Given the description of an element on the screen output the (x, y) to click on. 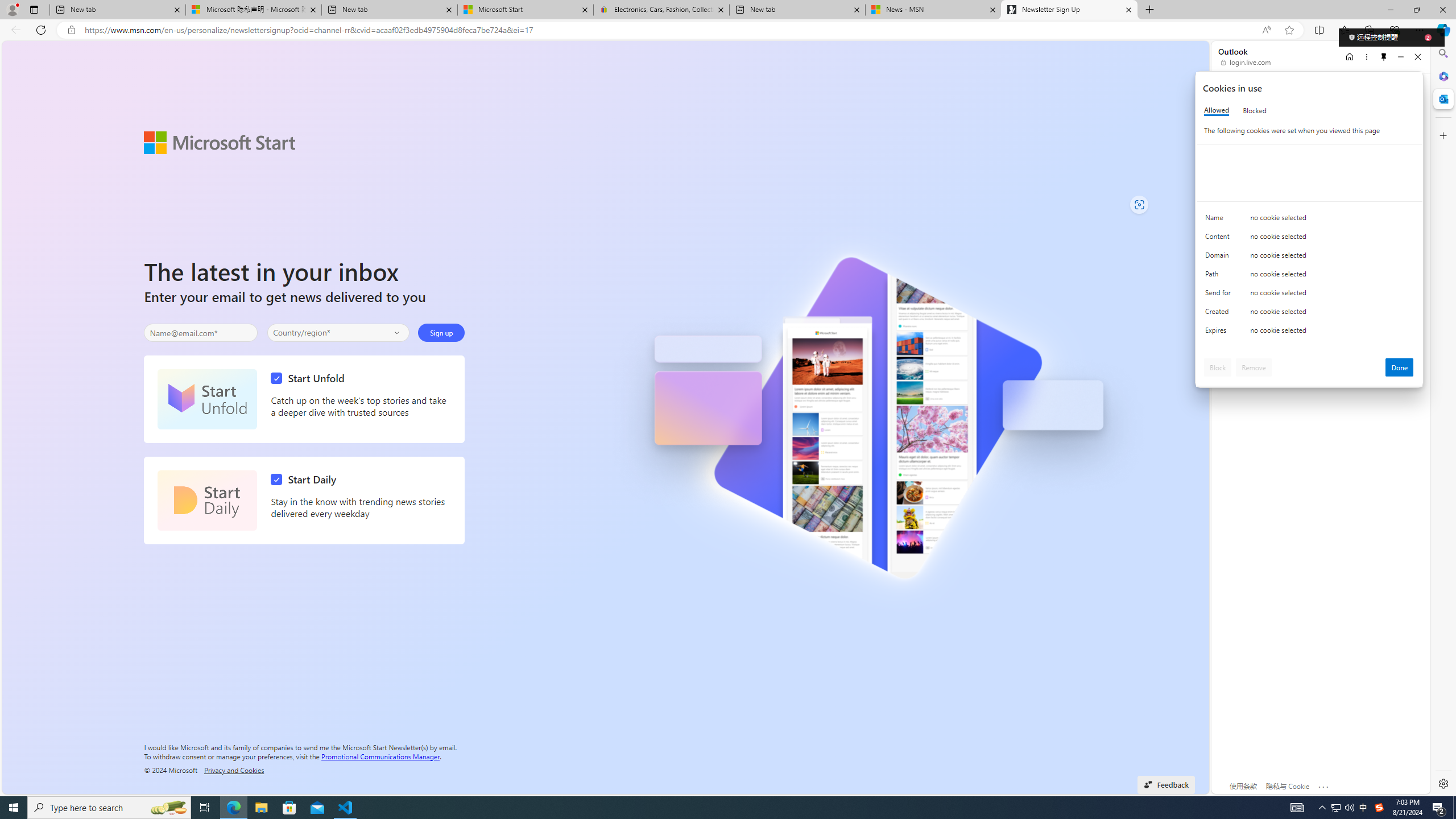
News - MSN (933, 9)
Class: c0153 c0157 c0154 (1309, 220)
Sign up (441, 332)
no cookie selected (1331, 332)
